Given the description of an element on the screen output the (x, y) to click on. 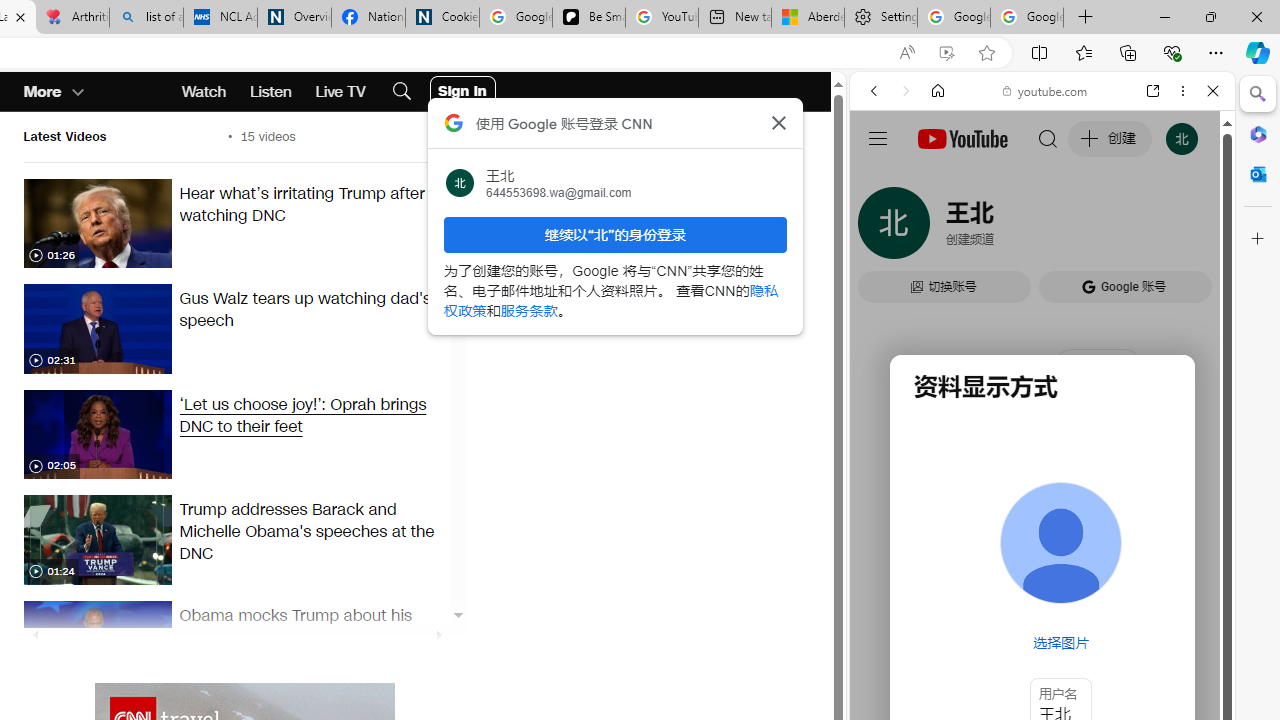
Show More Music (1164, 546)
